Given the description of an element on the screen output the (x, y) to click on. 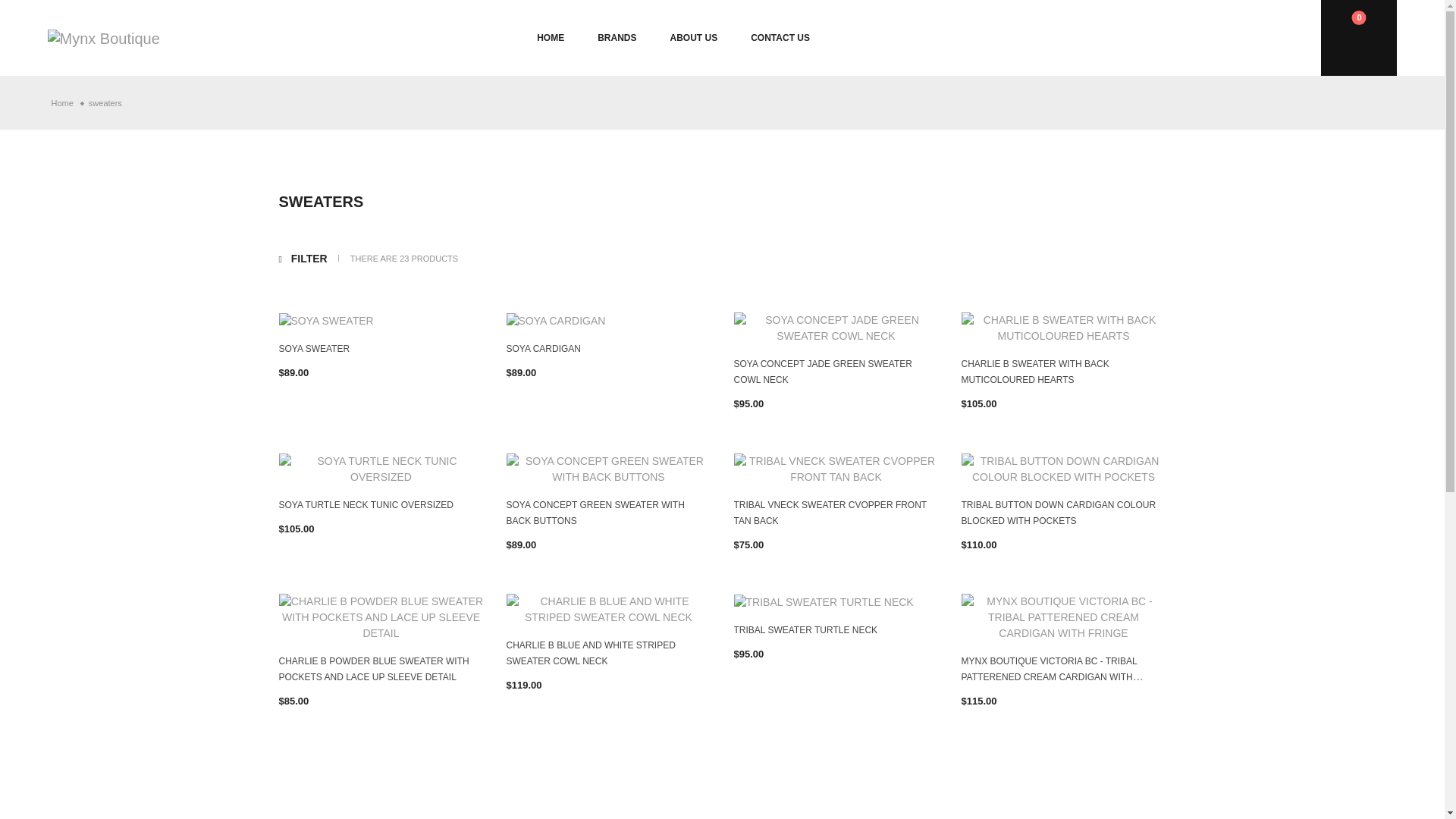
HOME (550, 37)
ABOUT US (693, 37)
Home (62, 102)
SOYA CONCEPT JADE GREEN SWEATER COWL NECK (822, 371)
CONTACT US (780, 37)
Home (62, 102)
SOYA CARDIGAN (543, 348)
CHARLIE B SWEATER WITH BACK MUTICOLOURED HEARTS (1034, 371)
SOYA SWEATER (314, 348)
BRANDS (616, 37)
